Given the description of an element on the screen output the (x, y) to click on. 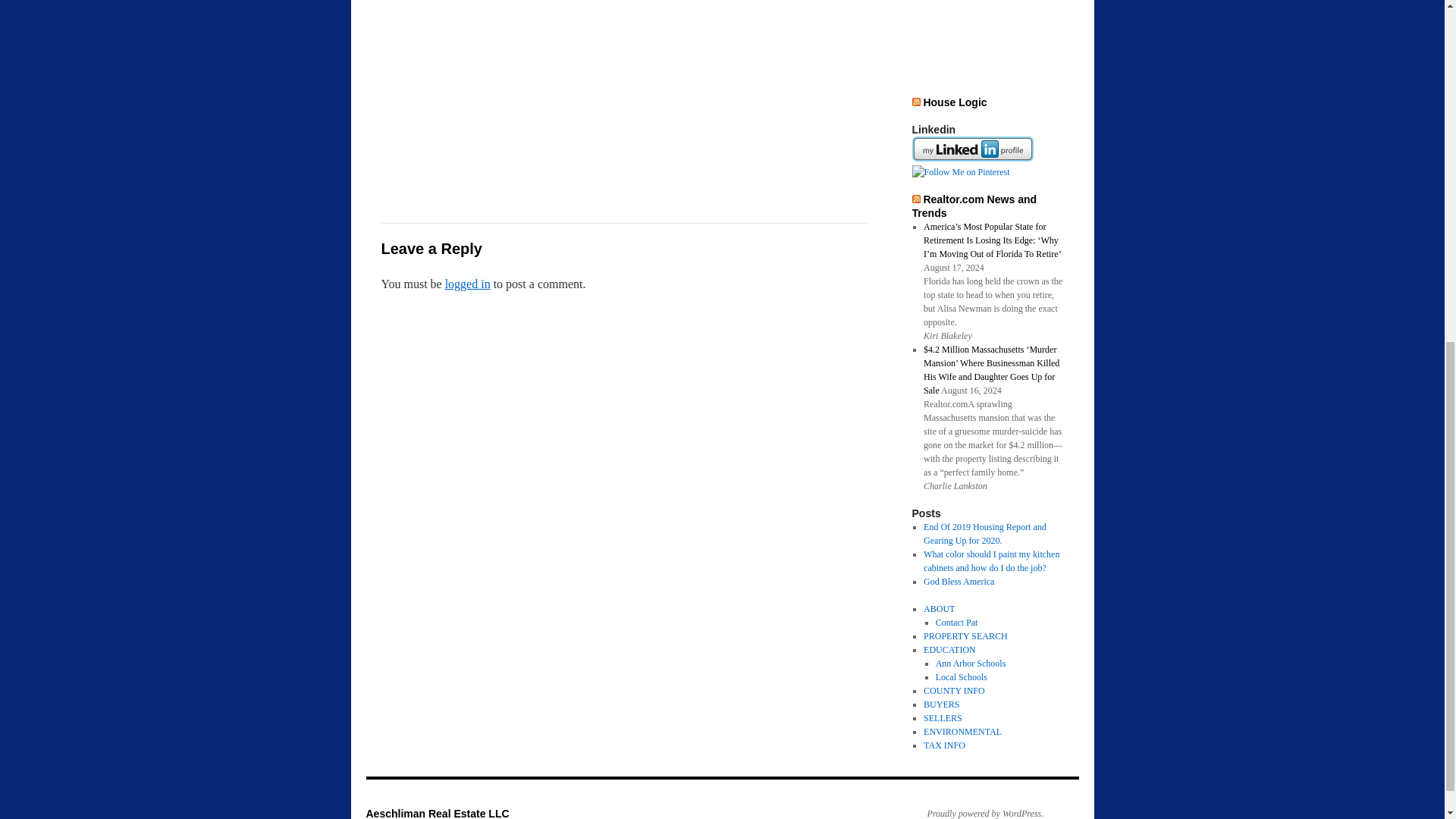
ABOUT (939, 608)
God Bless America (958, 581)
ENVIRONMENTAL (962, 731)
Local Schools (961, 676)
Ann Arbor Schools (971, 663)
EDUCATION (949, 649)
SELLERS (942, 717)
BUYERS (941, 704)
PROPERTY SEARCH (965, 635)
